Given the description of an element on the screen output the (x, y) to click on. 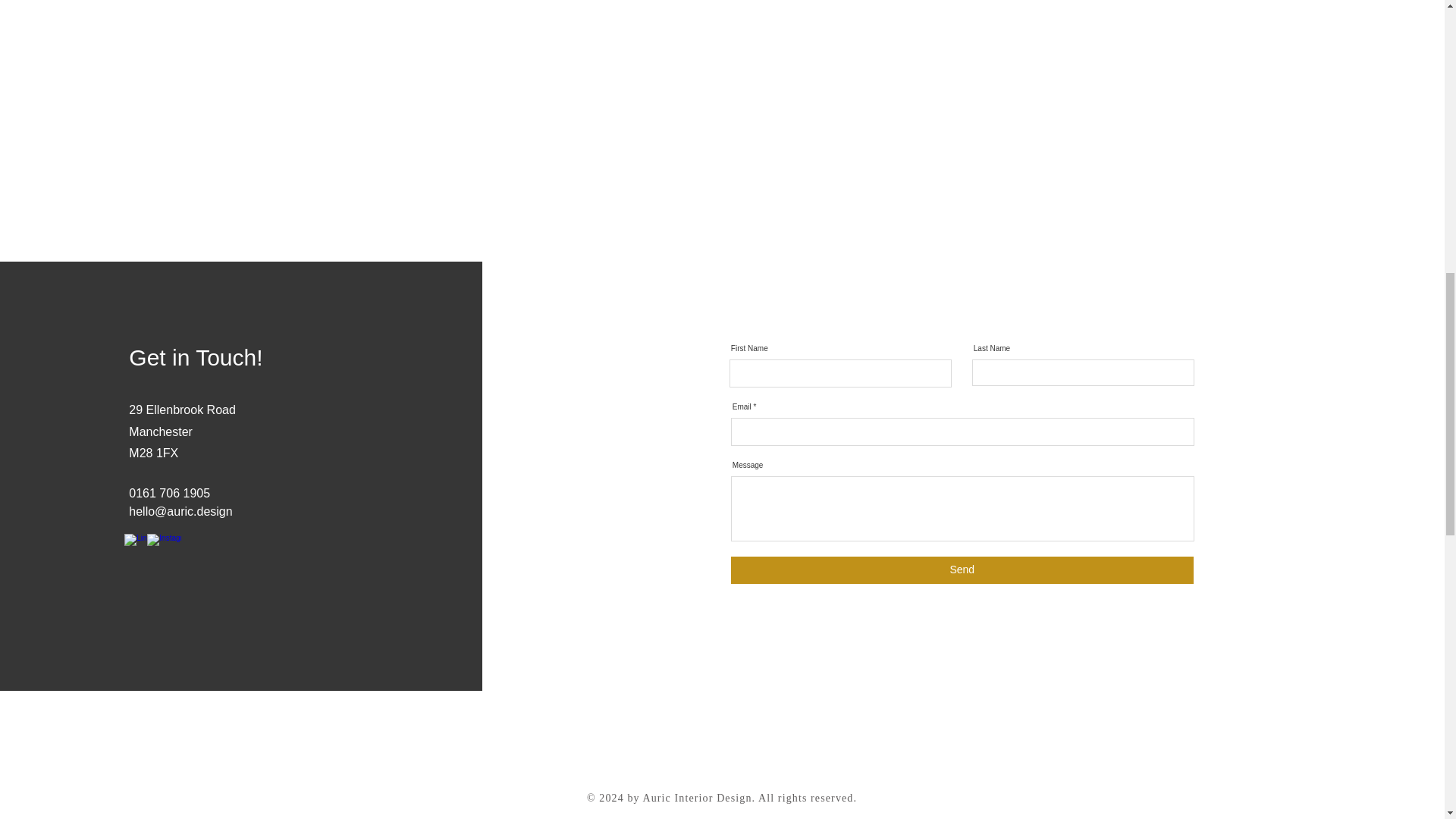
Send (961, 569)
